Given the description of an element on the screen output the (x, y) to click on. 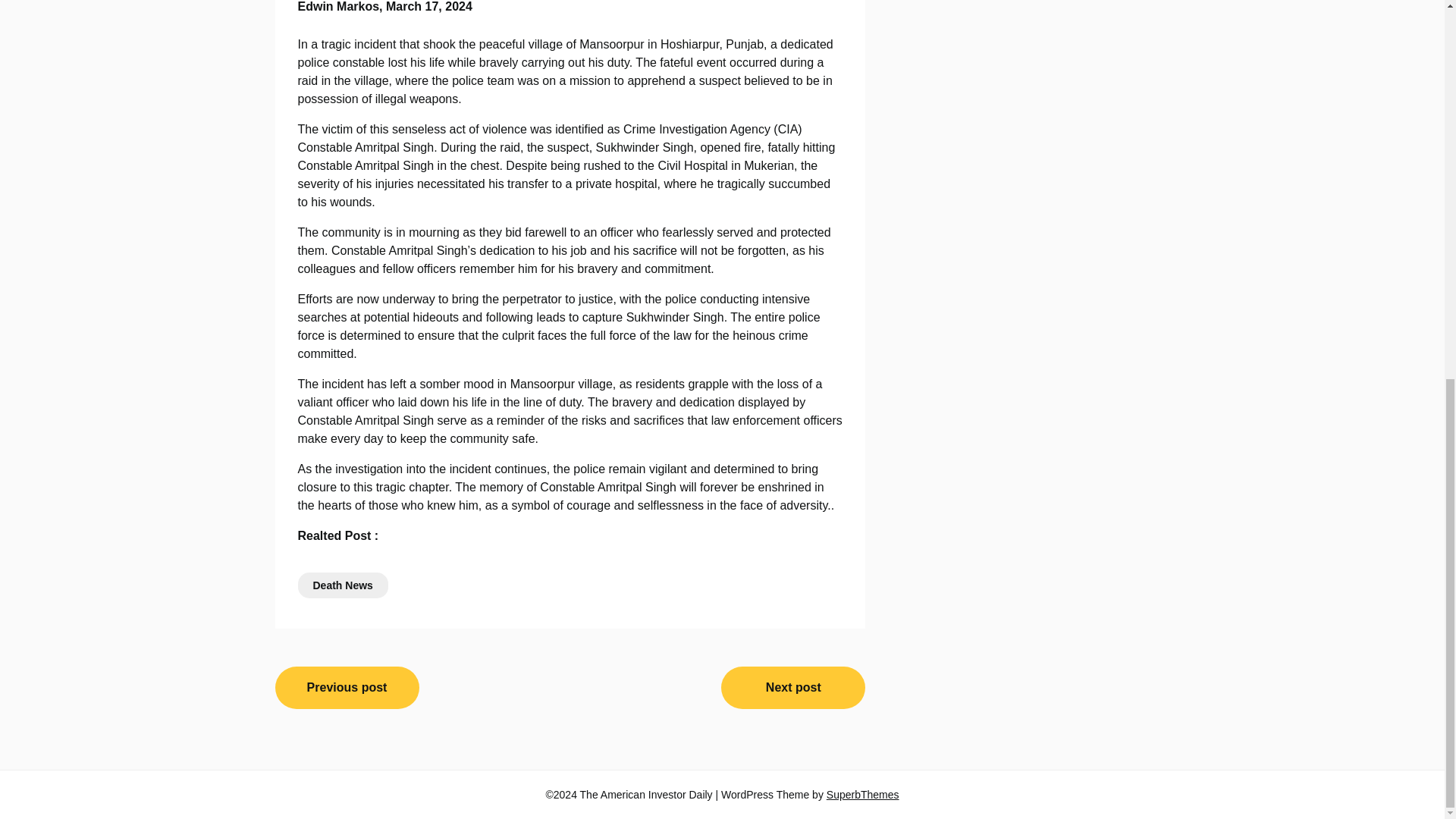
Death News (342, 585)
Next post (792, 687)
Previous post (347, 687)
March 17, 2024 (428, 6)
SuperbThemes (863, 794)
